Given the description of an element on the screen output the (x, y) to click on. 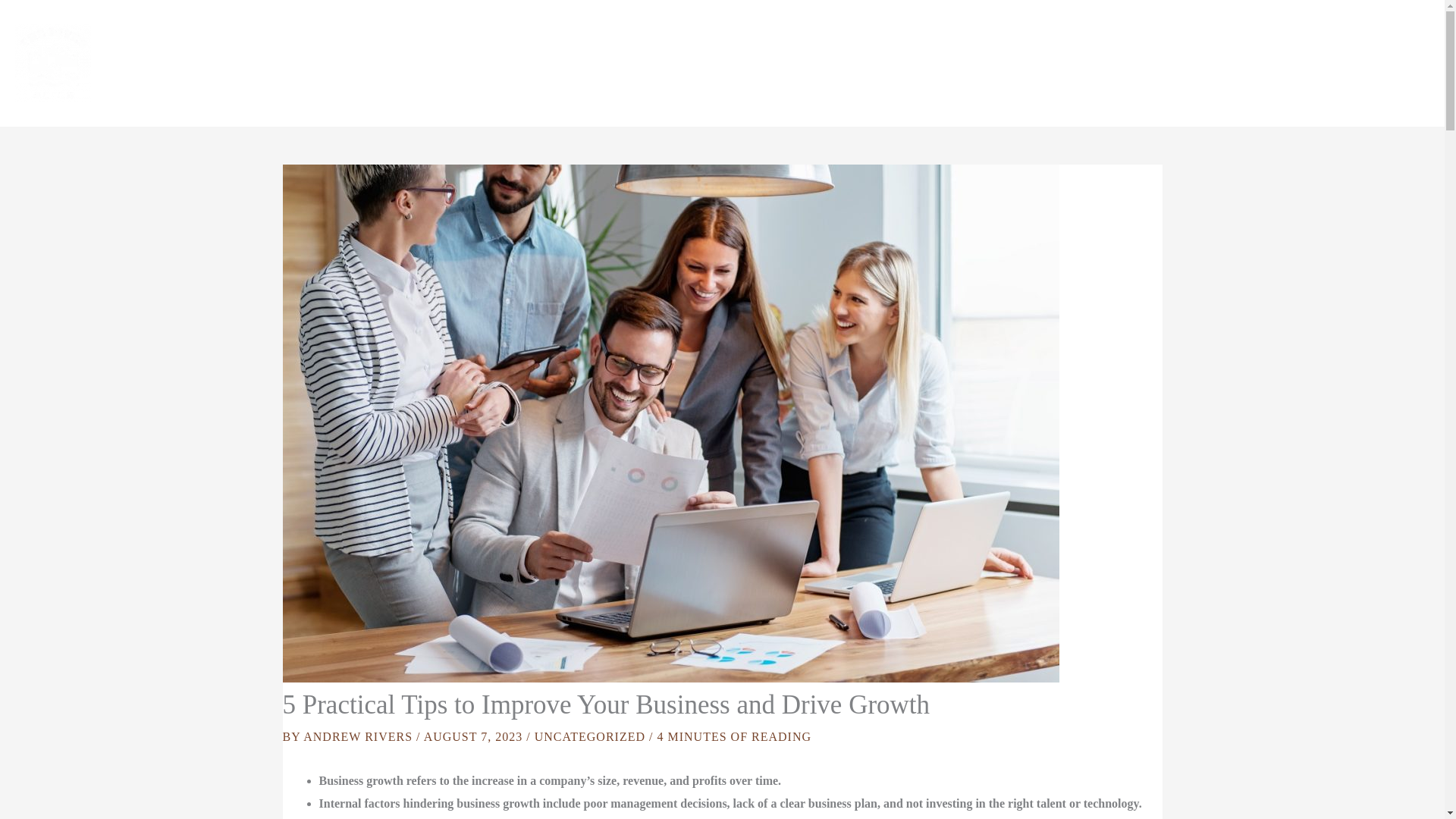
FINANCE (1157, 62)
ANDREW RIVERS (359, 736)
BUSINESS TECH (1055, 62)
UNCATEGORIZED (589, 736)
STARTUP (1357, 62)
MANAGEMENT (1257, 62)
BUSINESS NEWS (931, 62)
View all posts by Andrew Rivers (359, 736)
